Given the description of an element on the screen output the (x, y) to click on. 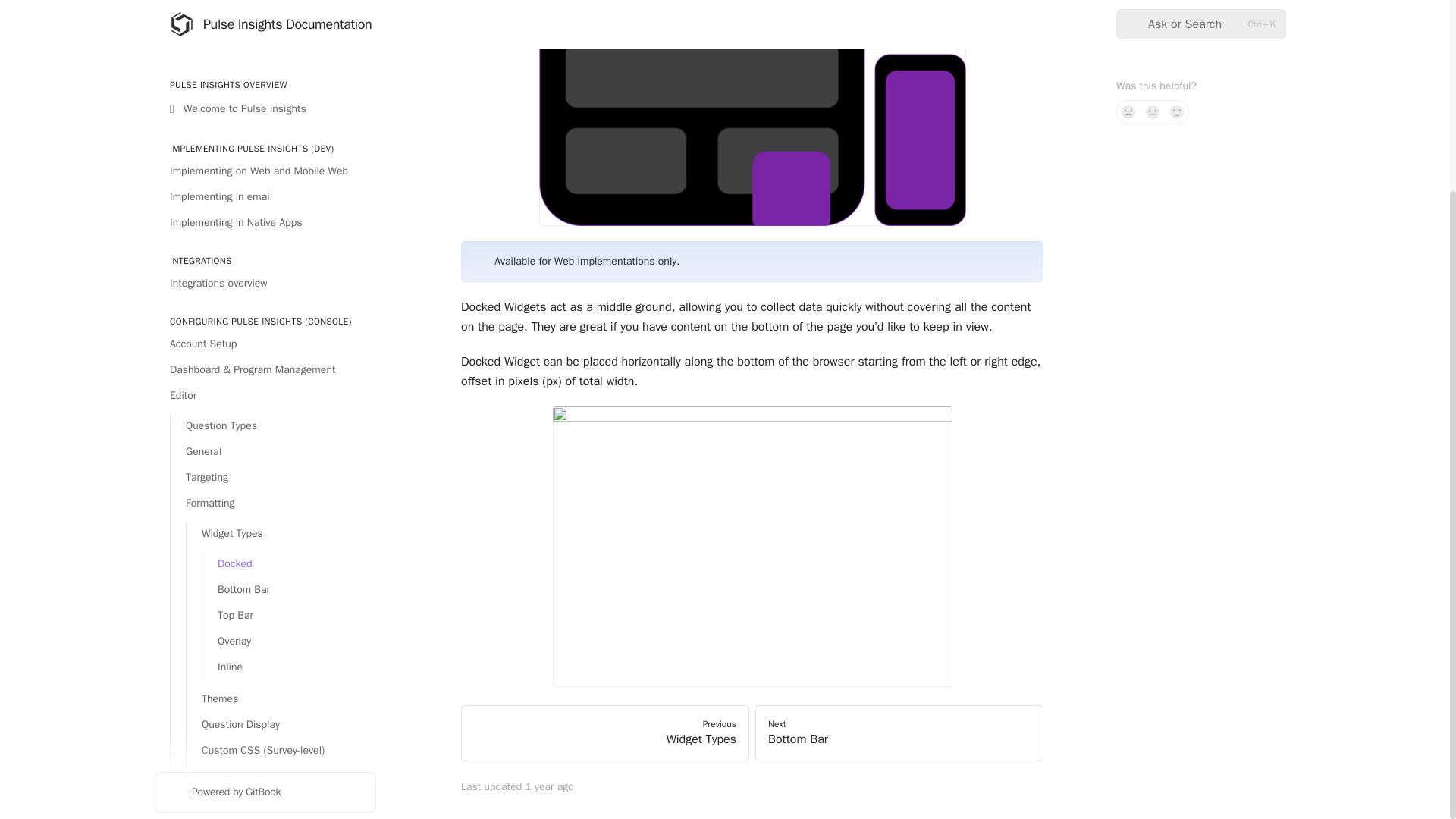
Account Setup (264, 95)
Integrations overview (264, 34)
Editor (264, 146)
